Given the description of an element on the screen output the (x, y) to click on. 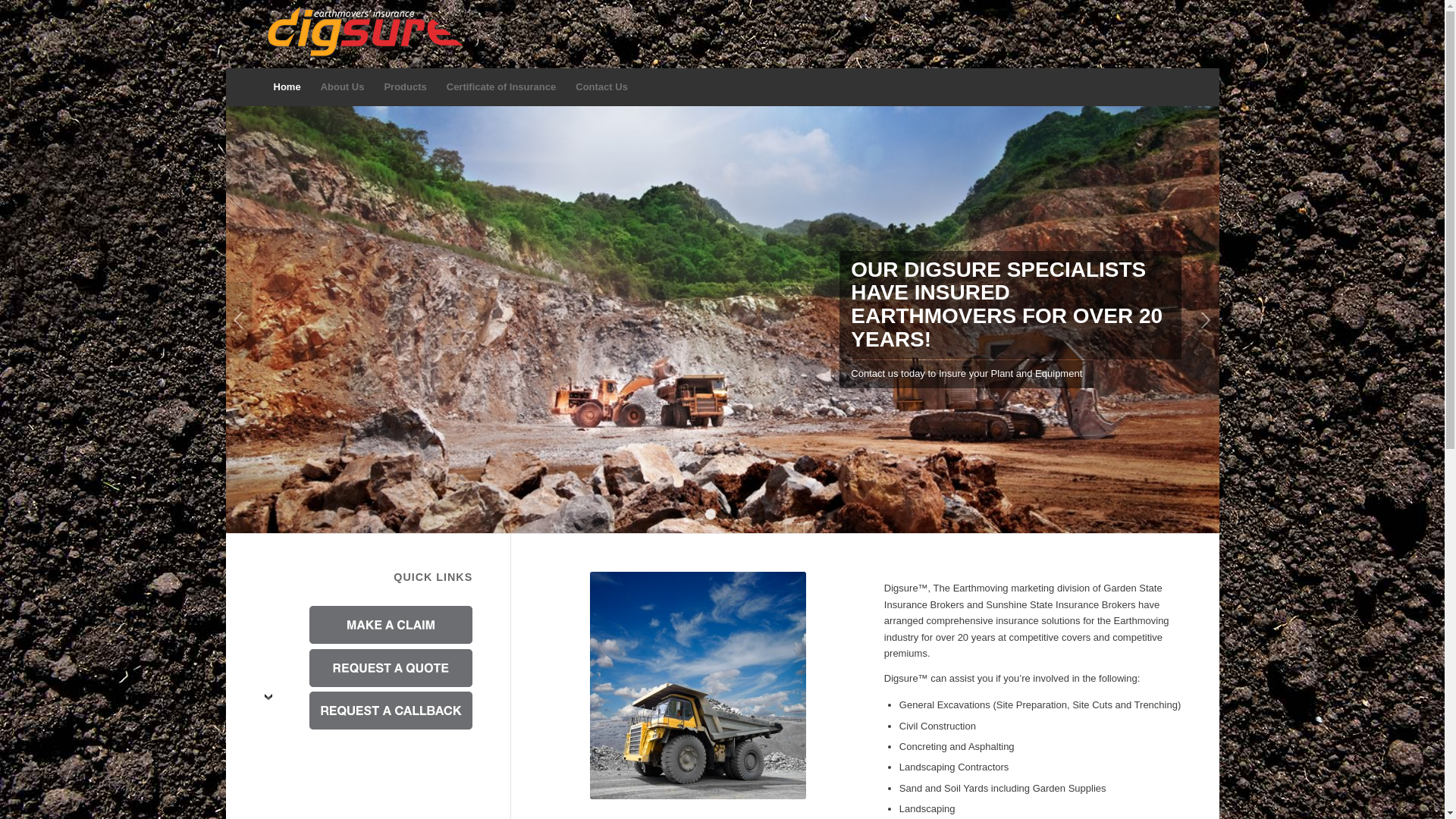
3 Element type: text (734, 513)
Truck Insurance - Quarry Insurance Element type: hover (697, 685)
2 Element type: text (722, 513)
Next Element type: text (1205, 319)
Insurance from the East to the West Element type: hover (722, 319)
Certificate of Insurance Element type: text (501, 87)
About Us Element type: text (342, 87)
1 Element type: text (710, 513)
Contact Us Element type: text (601, 87)
Home Element type: text (286, 87)
Products Element type: text (404, 87)
Previous Element type: text (238, 319)
